Given the description of an element on the screen output the (x, y) to click on. 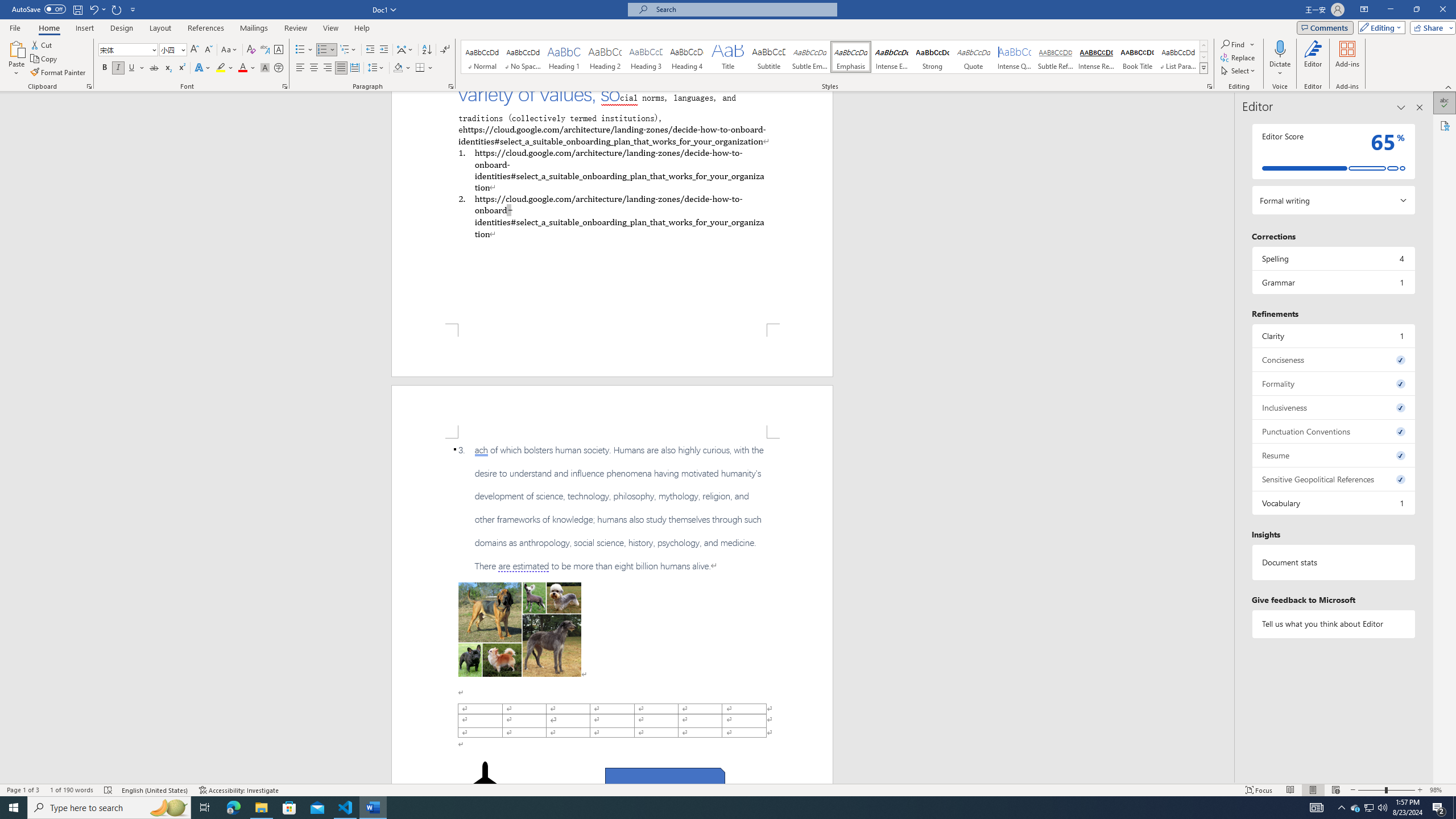
Quote (973, 56)
Resume, 0 issues. Press space or enter to review items. (1333, 454)
